Given the description of an element on the screen output the (x, y) to click on. 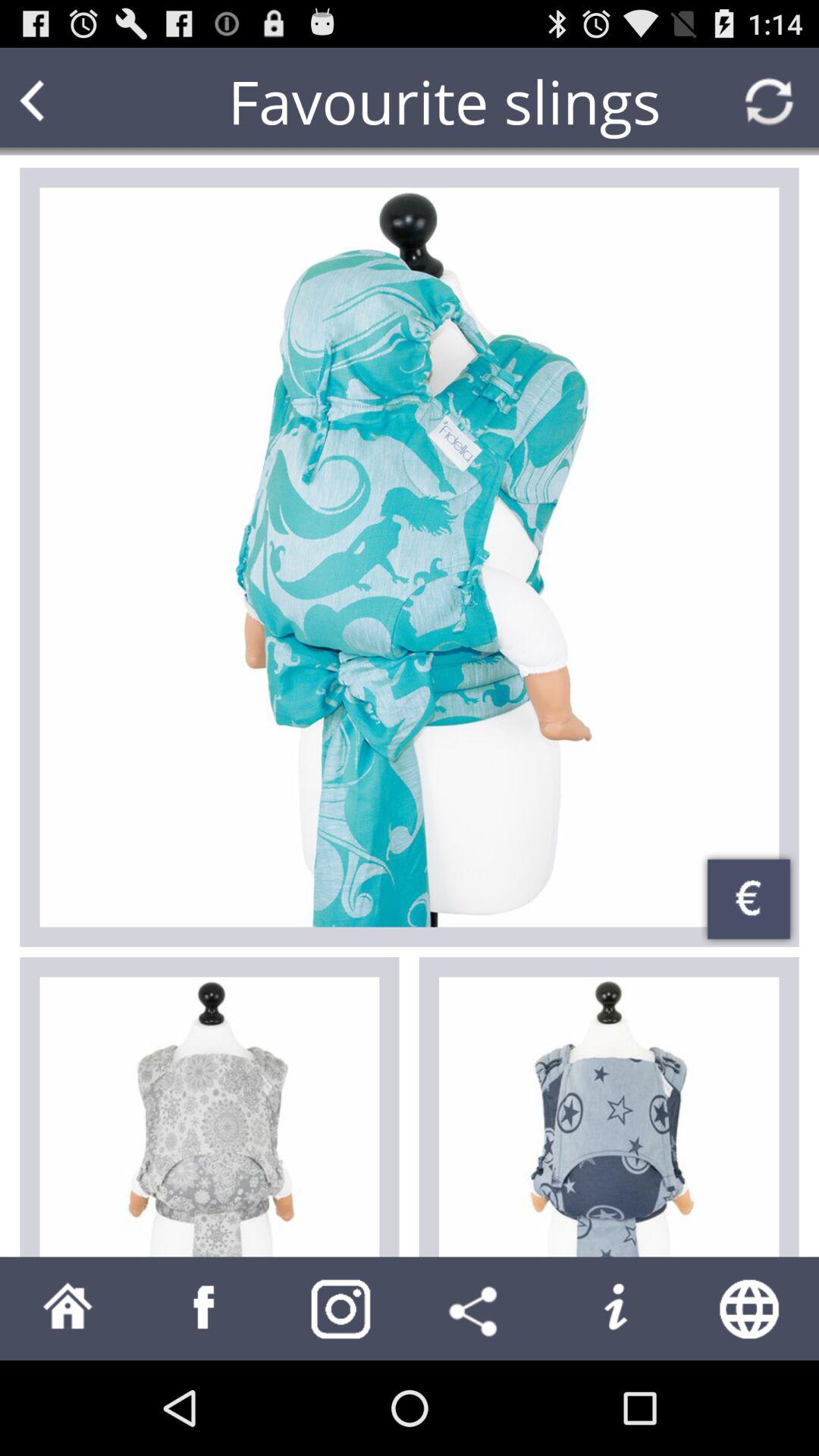
go to home (68, 1308)
